Given the description of an element on the screen output the (x, y) to click on. 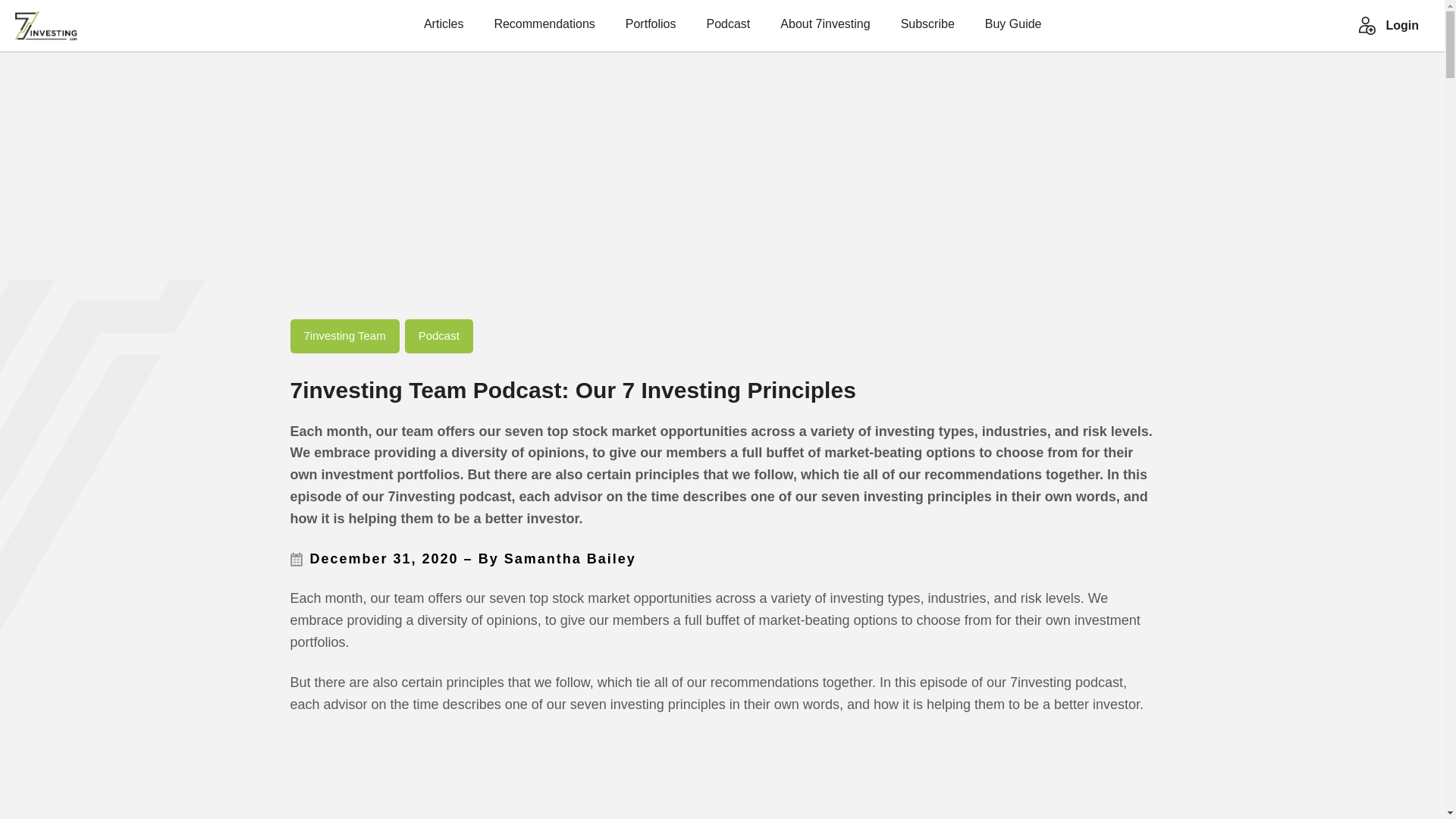
About 7investing (824, 30)
Articles (443, 30)
7investing Team (343, 335)
Portfolios (651, 30)
Subscribe (928, 30)
Recommendations (543, 30)
Podcast (728, 30)
Buy Guide (1013, 30)
Login (1402, 25)
Podcast (439, 335)
